Given the description of an element on the screen output the (x, y) to click on. 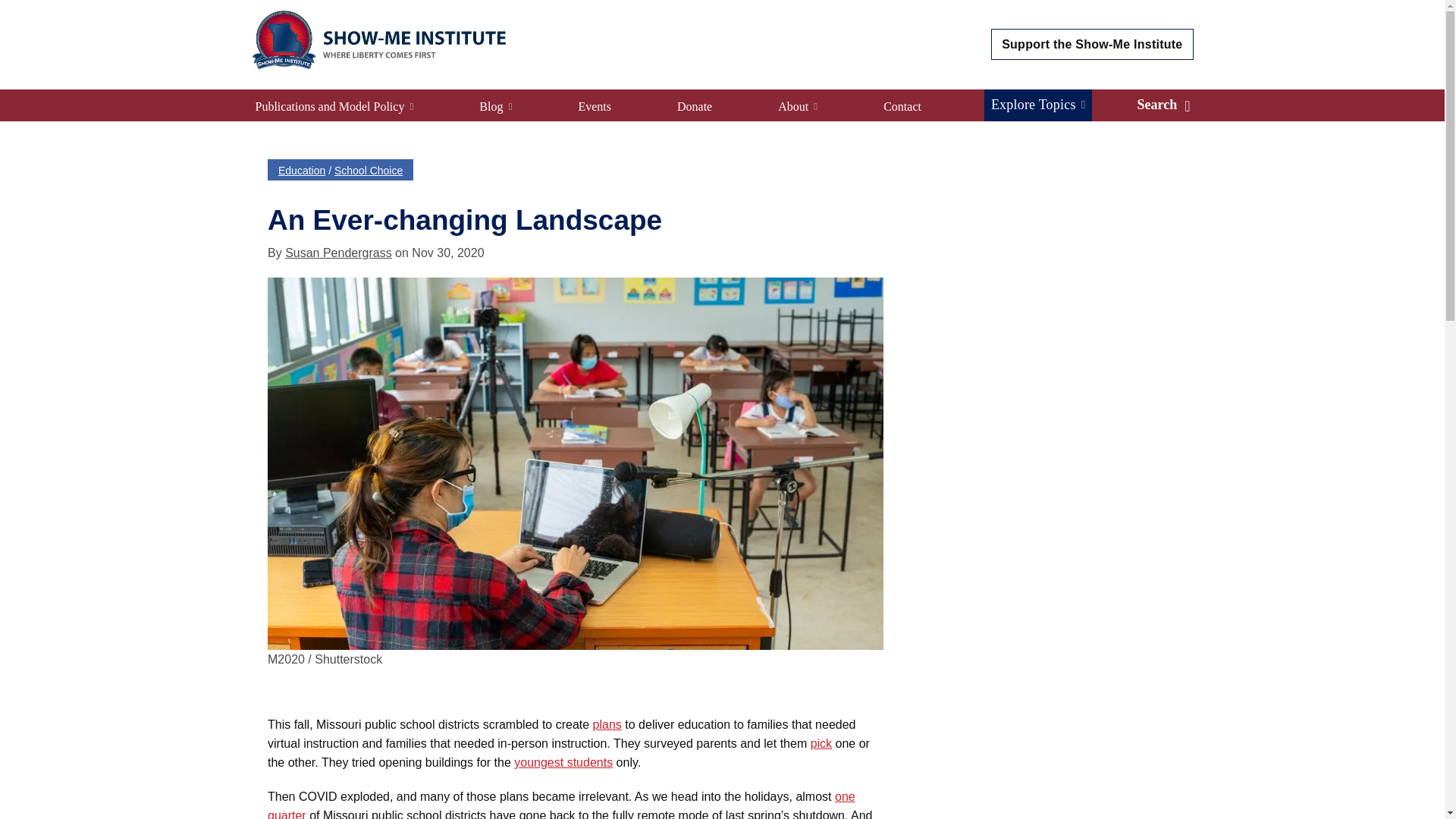
Posts by Susan Pendergrass (338, 252)
